Given the description of an element on the screen output the (x, y) to click on. 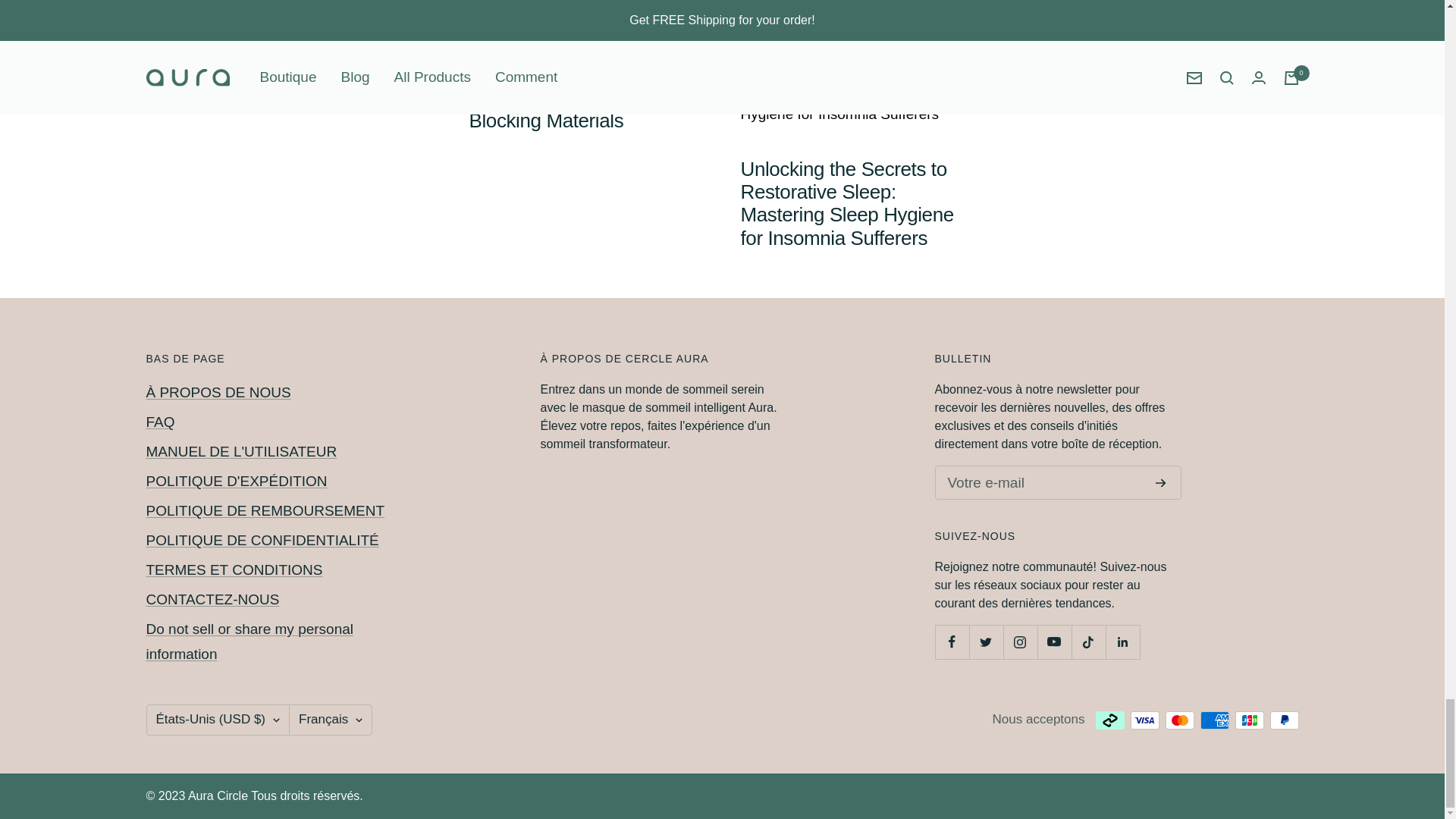
S'inscrire (1161, 482)
